Given the description of an element on the screen output the (x, y) to click on. 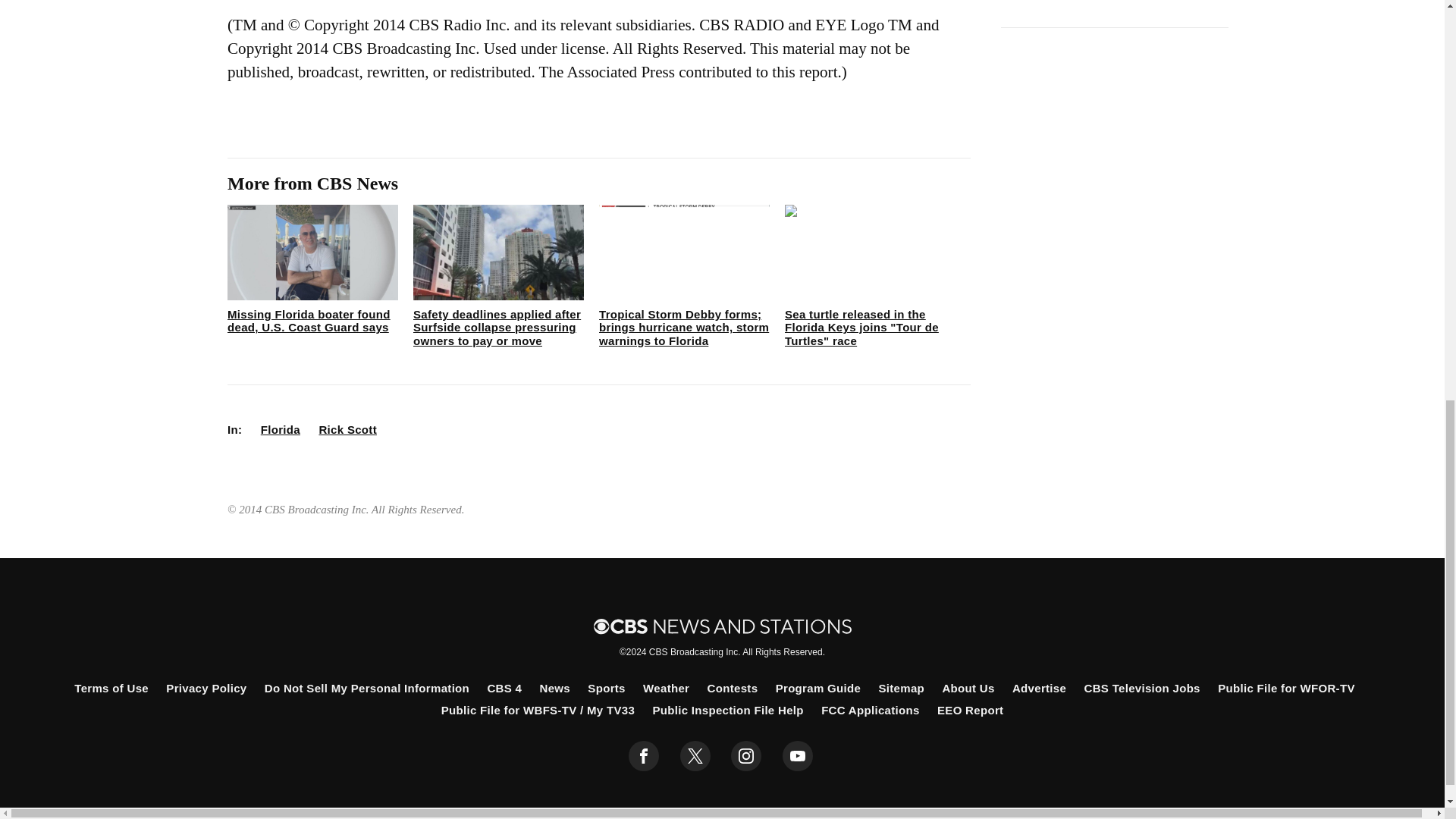
twitter (694, 756)
youtube (797, 756)
facebook (643, 756)
instagram (745, 756)
